Given the description of an element on the screen output the (x, y) to click on. 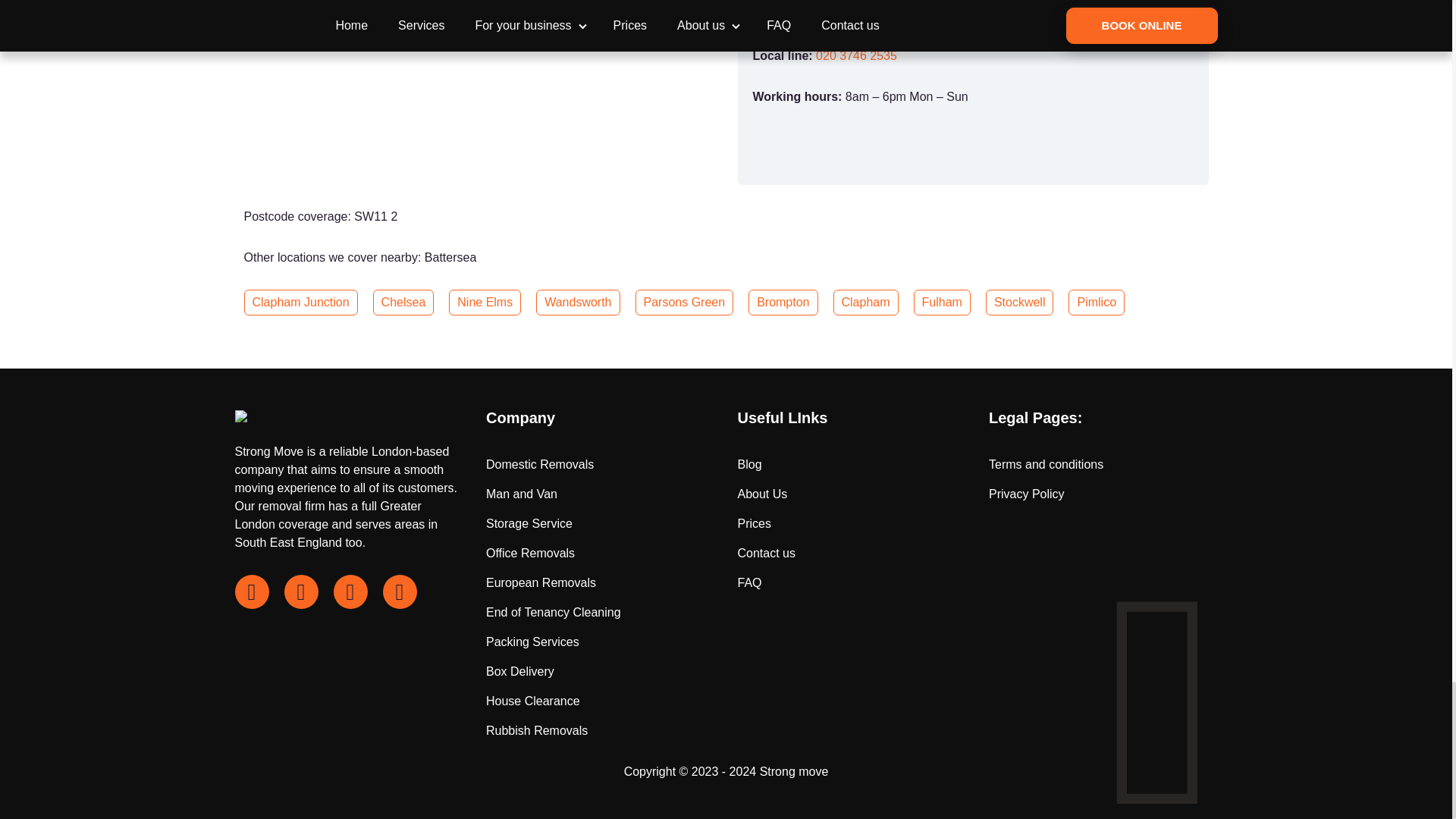
Strong move (794, 771)
Battersea map location (479, 105)
